Given the description of an element on the screen output the (x, y) to click on. 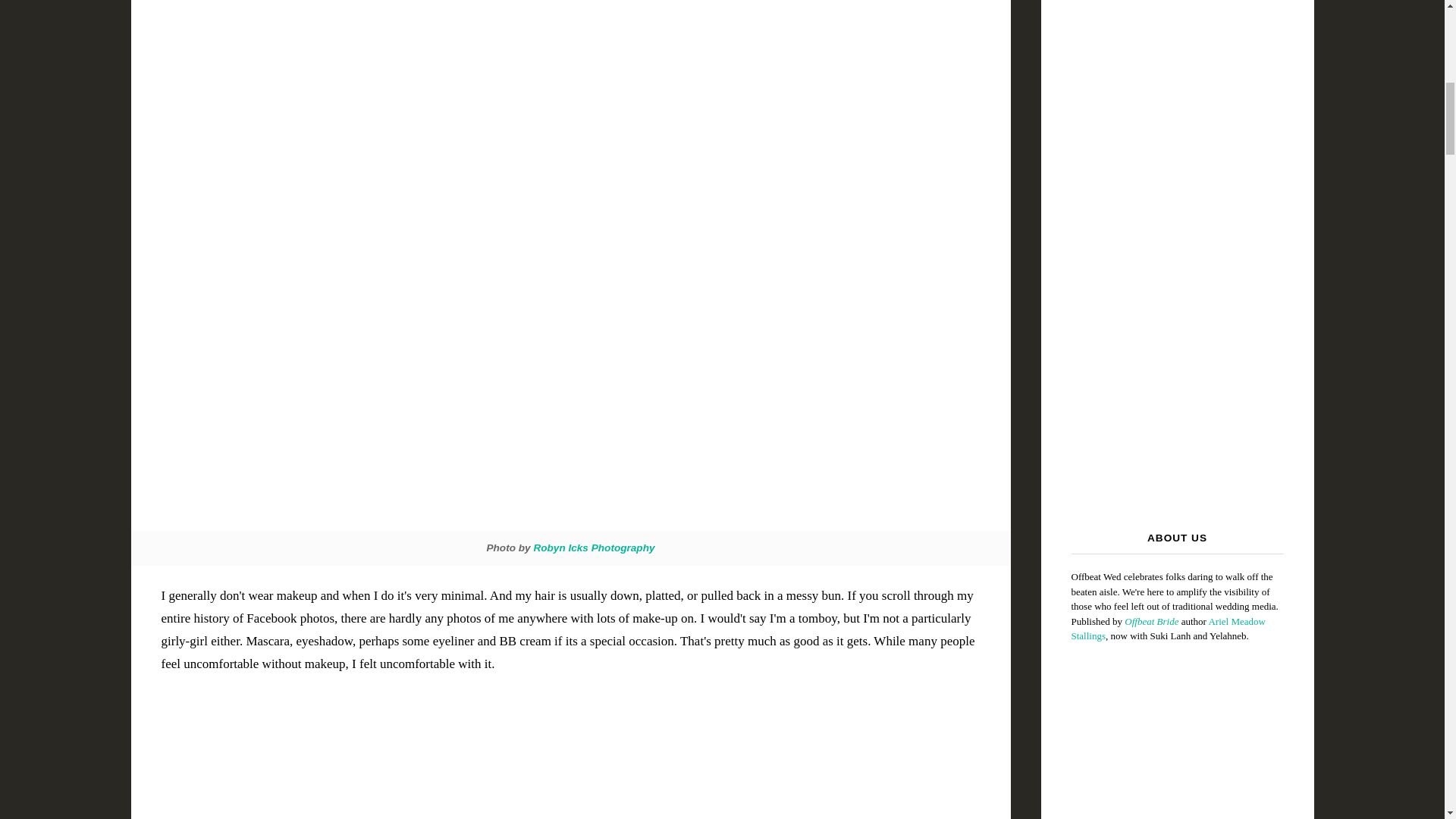
Robyn Icks Photography (592, 547)
